Given the description of an element on the screen output the (x, y) to click on. 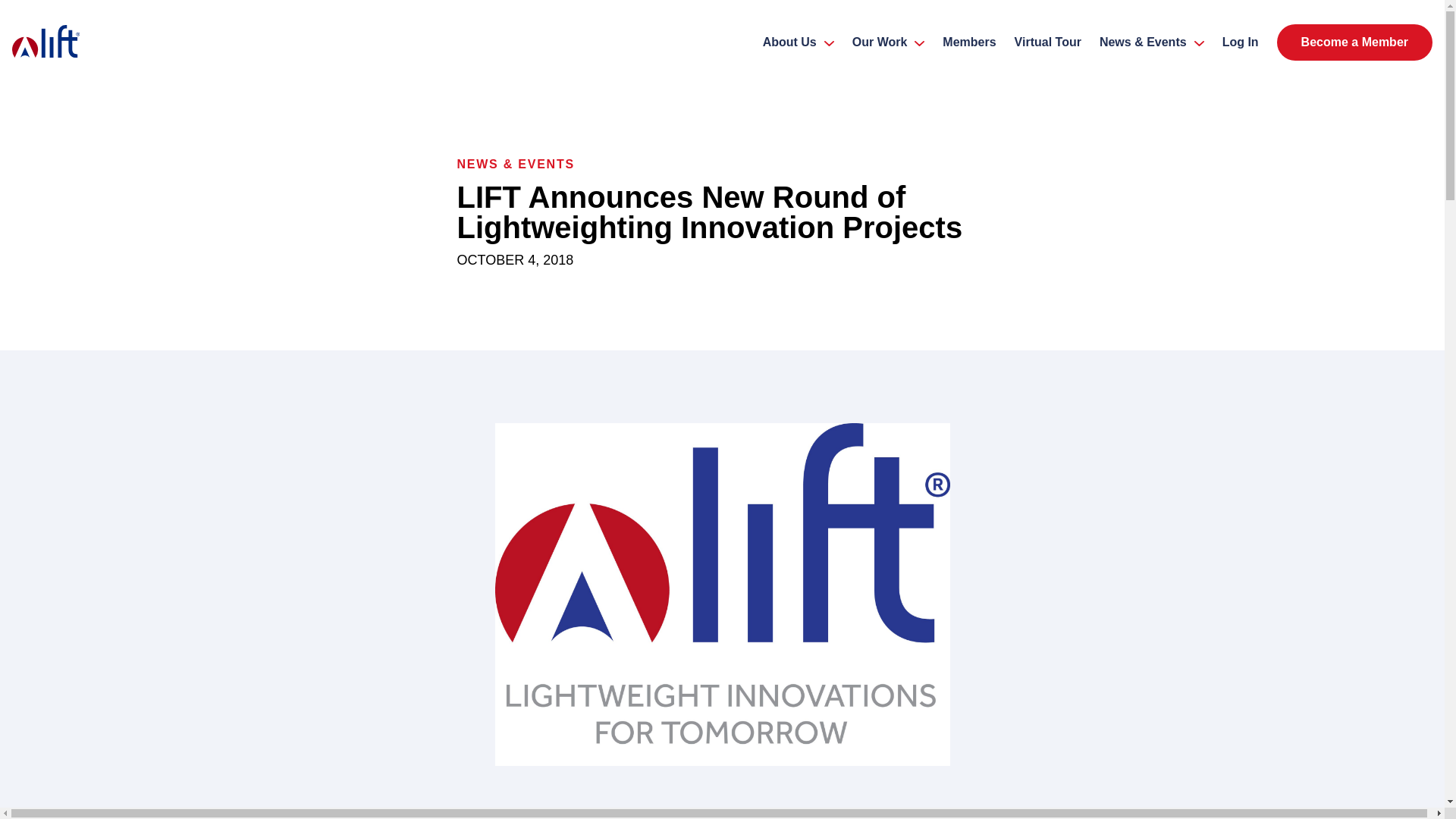
LIFT Homepage (61, 42)
Virtual Tour (1048, 42)
Become a Member (1354, 42)
Our Work (888, 42)
About Us (798, 42)
